Given the description of an element on the screen output the (x, y) to click on. 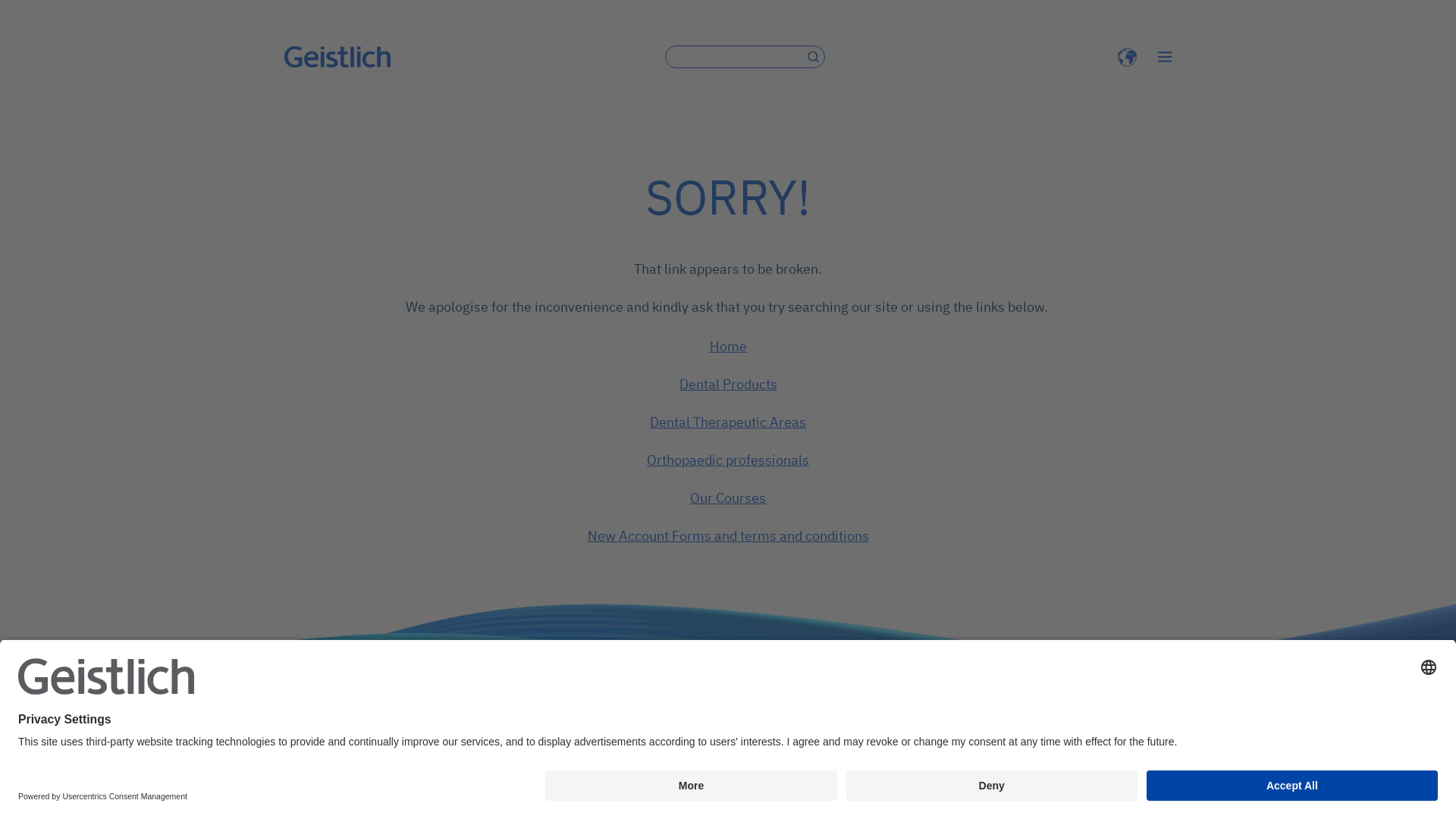
Orthopaedic professionals Element type: text (727, 459)
Home Element type: text (727, 345)
Our Courses Element type: text (727, 497)
Dental Products Element type: text (728, 383)
New Account Forms and terms and conditions Element type: text (727, 535)
languages Element type: hover (1126, 56)
Dental Therapeutic Areas Element type: text (727, 421)
menu Element type: hover (1164, 56)
